Given the description of an element on the screen output the (x, y) to click on. 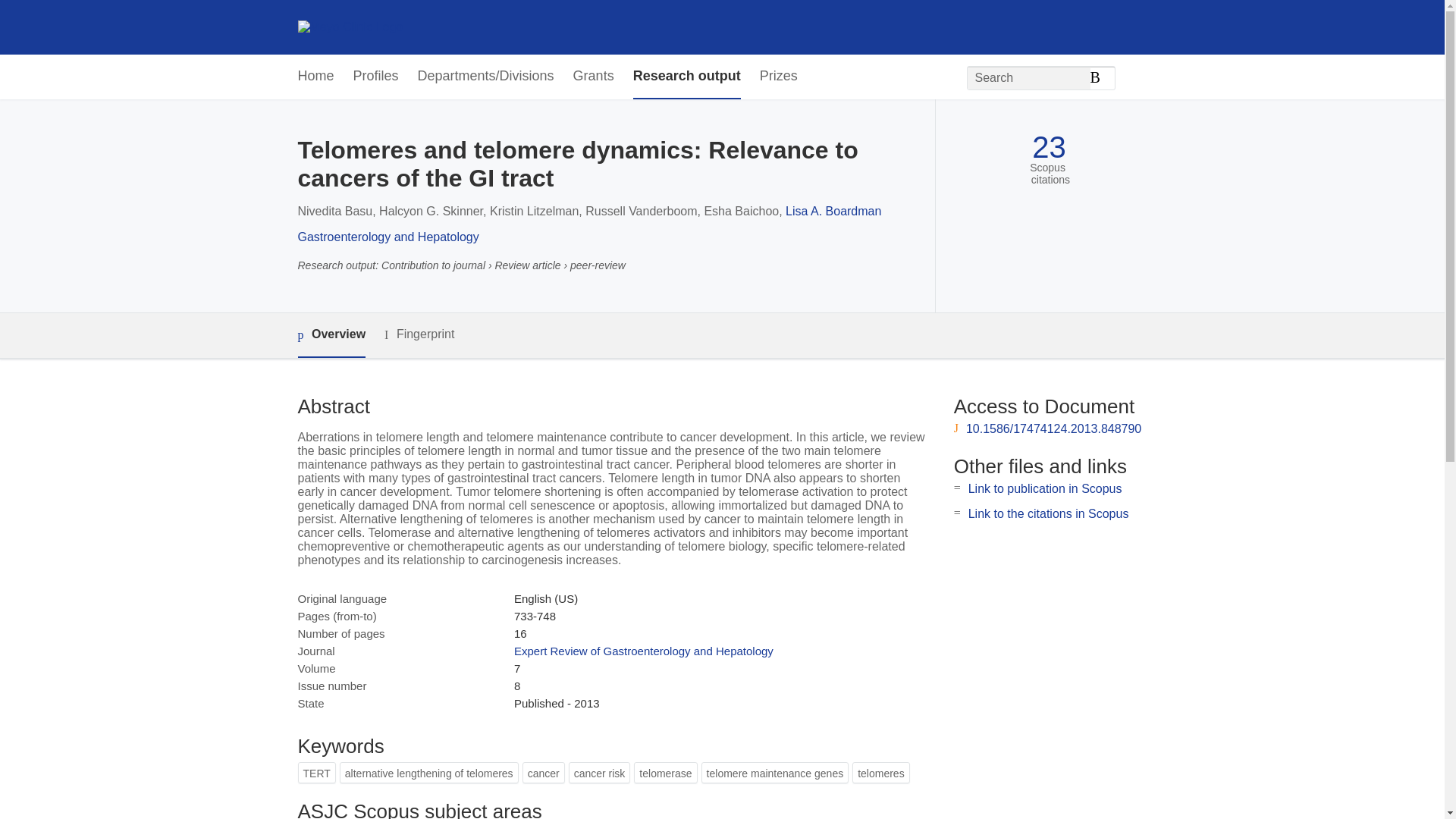
Expert Review of Gastroenterology and Hepatology (643, 650)
Profiles (375, 76)
Lisa A. Boardman (833, 210)
Mayo Clinic Home (350, 27)
Gastroenterology and Hepatology (388, 236)
23 (1048, 147)
Link to the citations in Scopus (1048, 513)
Link to publication in Scopus (1045, 488)
Grants (593, 76)
